Given the description of an element on the screen output the (x, y) to click on. 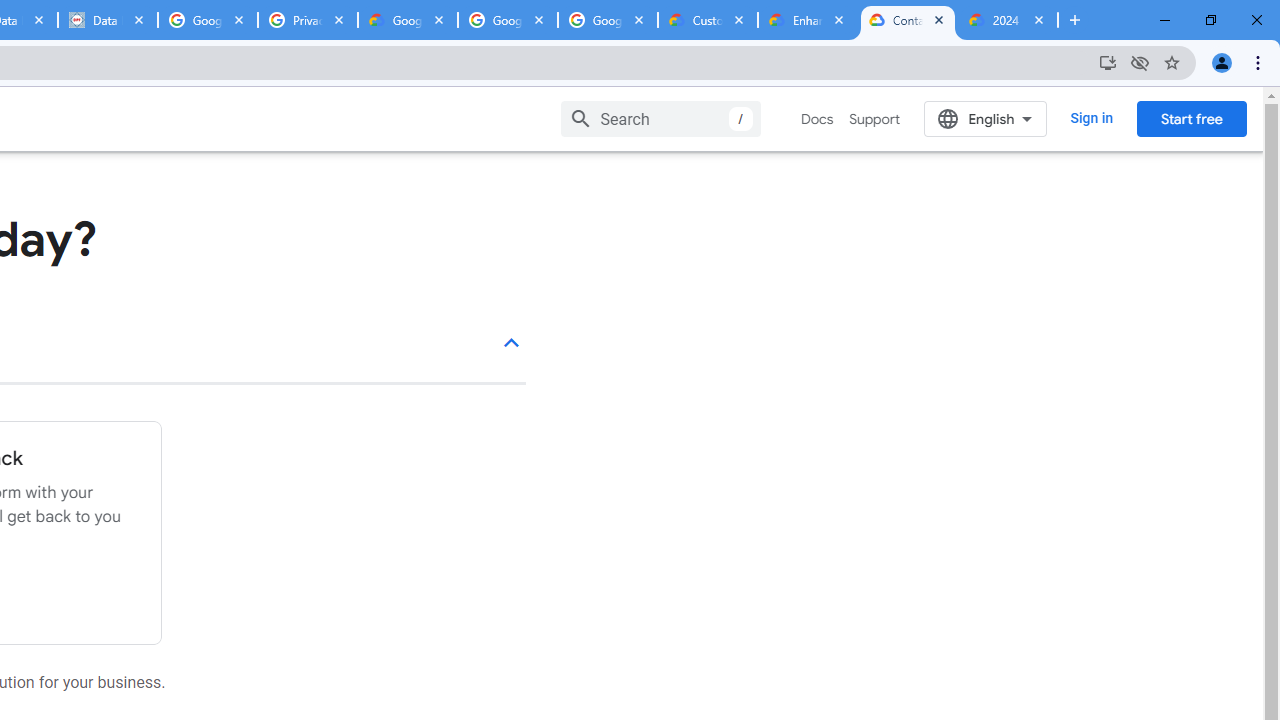
Google Workspace - Specific Terms (607, 20)
Enhanced Support | Google Cloud (807, 20)
Google Cloud Terms Directory | Google Cloud (408, 20)
